Given the description of an element on the screen output the (x, y) to click on. 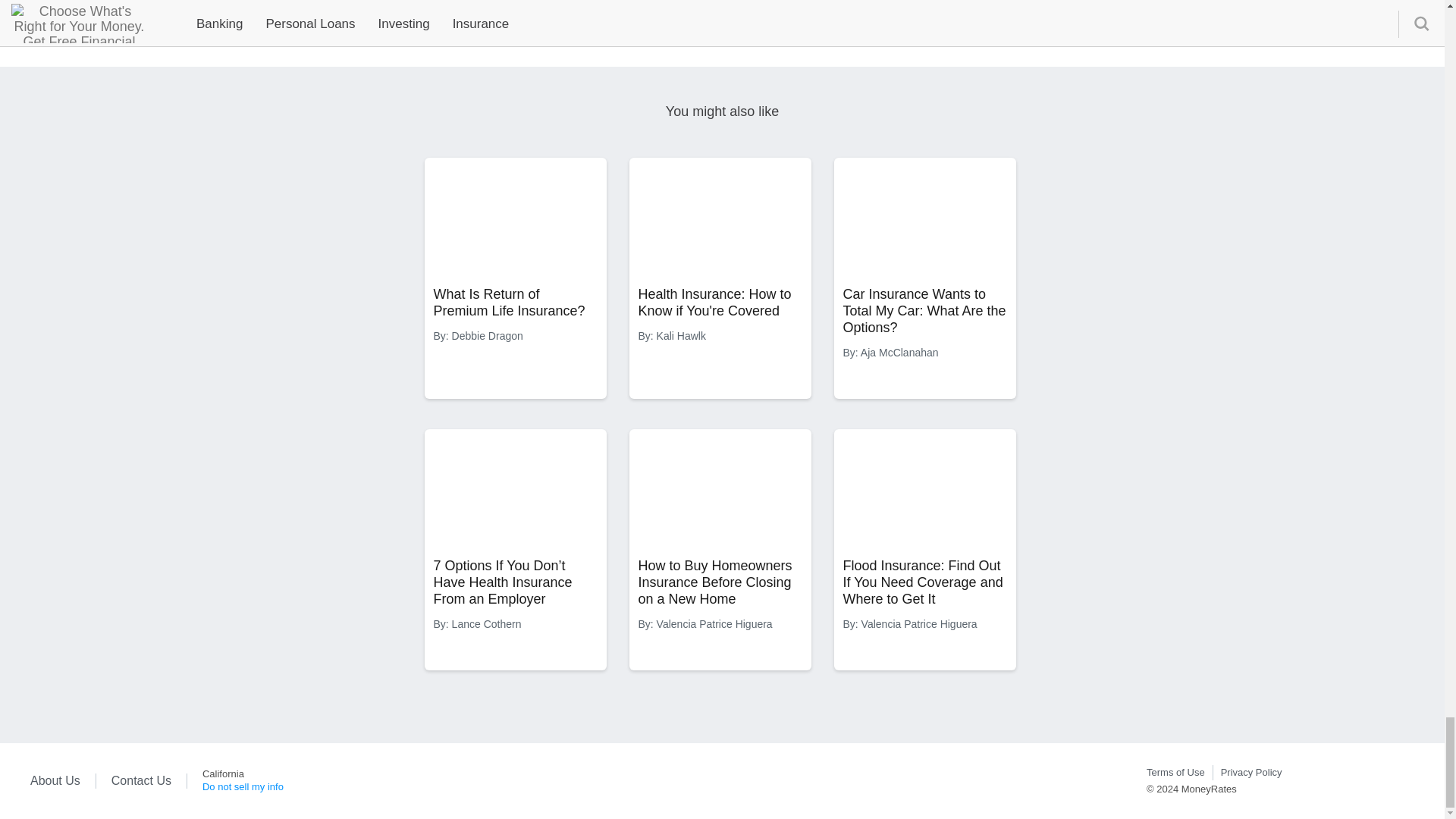
X (1323, 780)
Facebook (1391, 780)
